Given the description of an element on the screen output the (x, y) to click on. 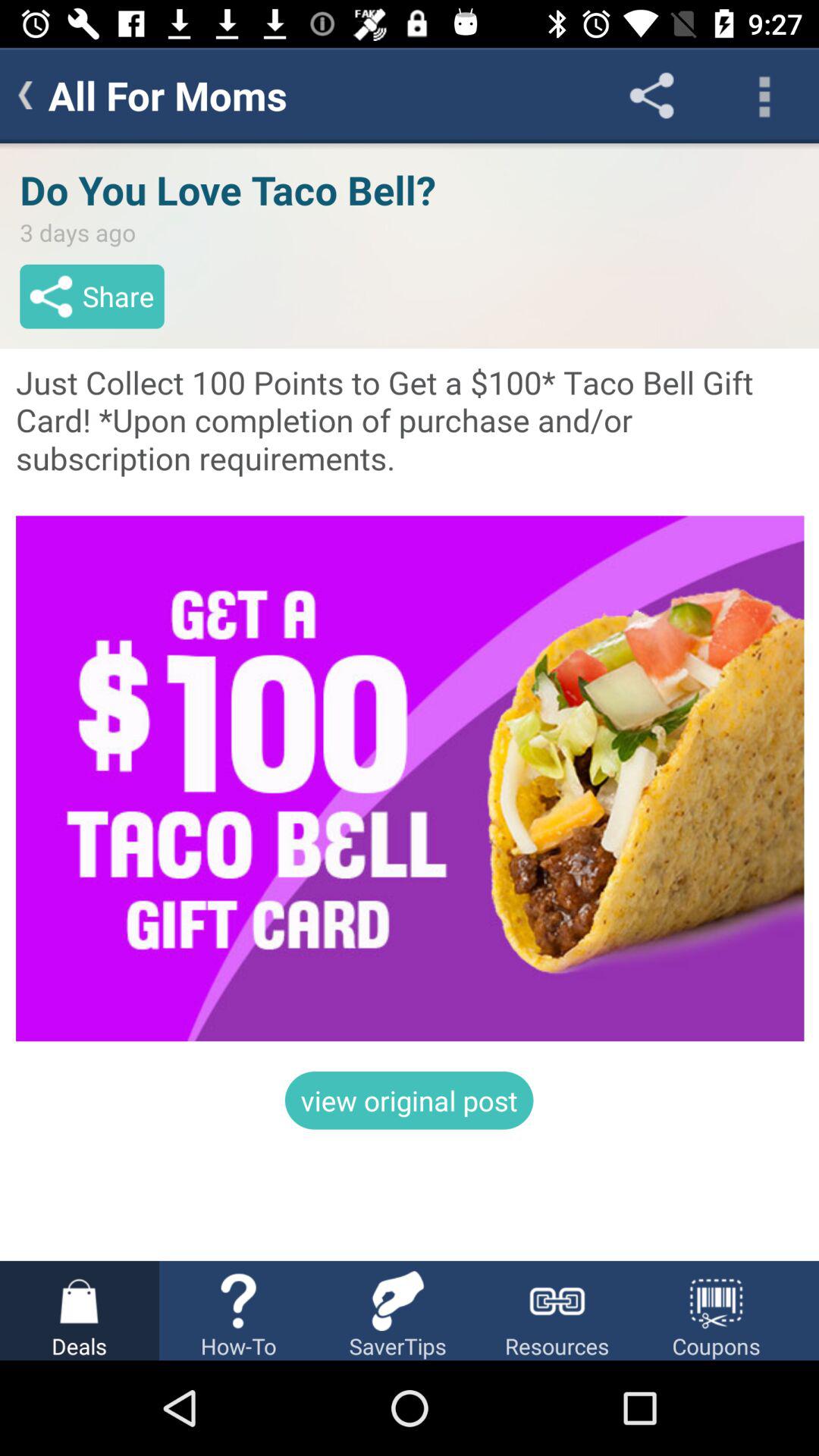
click the view original post item (408, 1100)
